Given the description of an element on the screen output the (x, y) to click on. 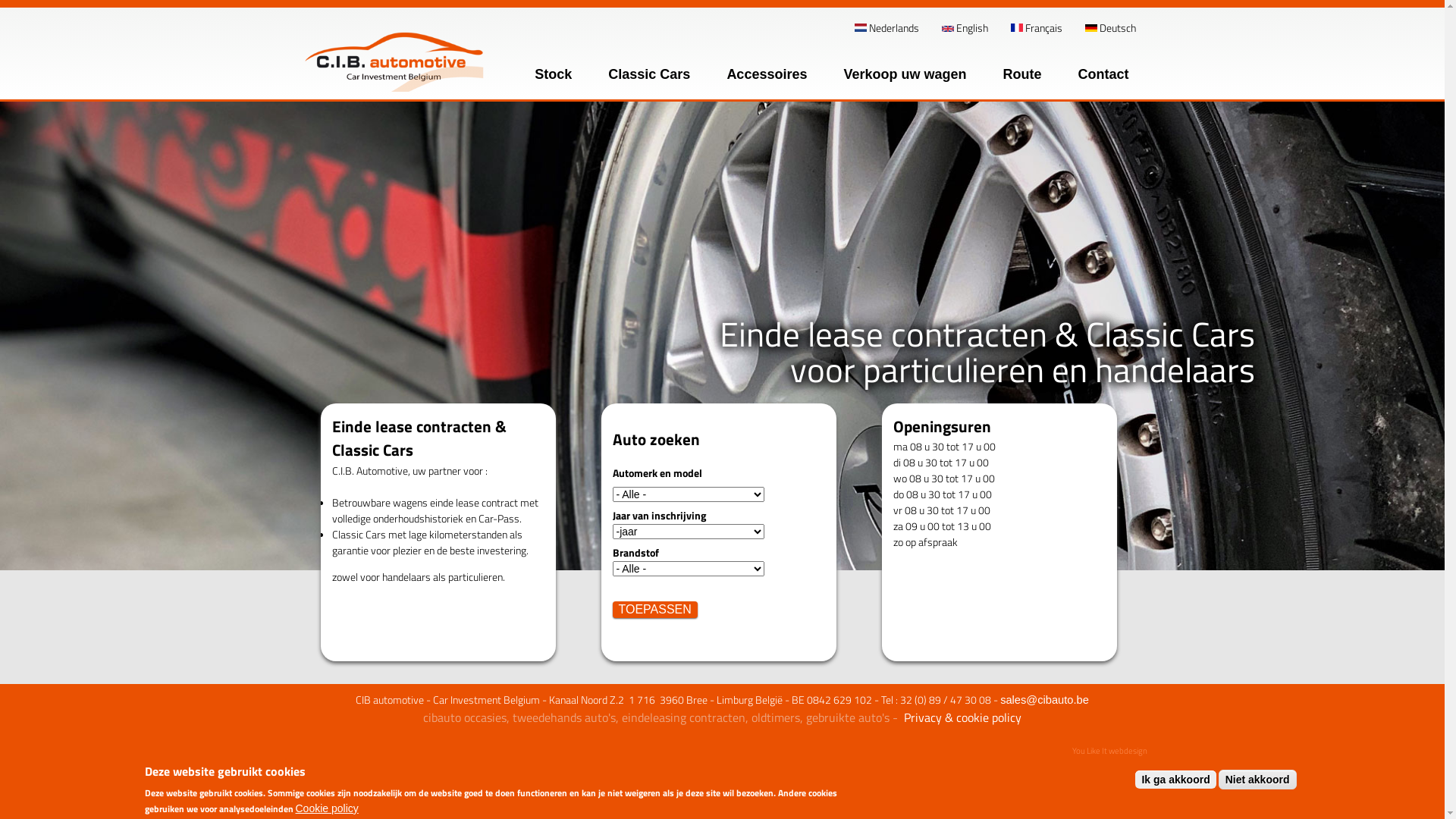
Route Element type: text (1021, 74)
Contact Element type: text (1103, 74)
Stock Element type: text (552, 74)
Accessoires Element type: text (766, 74)
Toepassen Element type: text (654, 609)
Niet akkoord Element type: text (1257, 779)
Cookie policy Element type: text (326, 807)
CIB Automotive Element type: text (305, 305)
You Like It webdesign Element type: text (1109, 750)
Deutsch Element type: text (1109, 27)
English Element type: hover (947, 28)
Verkoop uw wagen Element type: text (904, 74)
Overslaan en naar de inhoud gaan Element type: text (658, 0)
Privacy & cookie policy Element type: text (962, 716)
Nederlands Element type: text (885, 27)
Deutsch Element type: hover (1090, 27)
Classic Cars Element type: text (648, 74)
sales@cibauto.be Element type: text (1044, 699)
English Element type: text (964, 27)
Ik ga akkoord Element type: text (1175, 779)
Nederlands Element type: hover (859, 27)
